Given the description of an element on the screen output the (x, y) to click on. 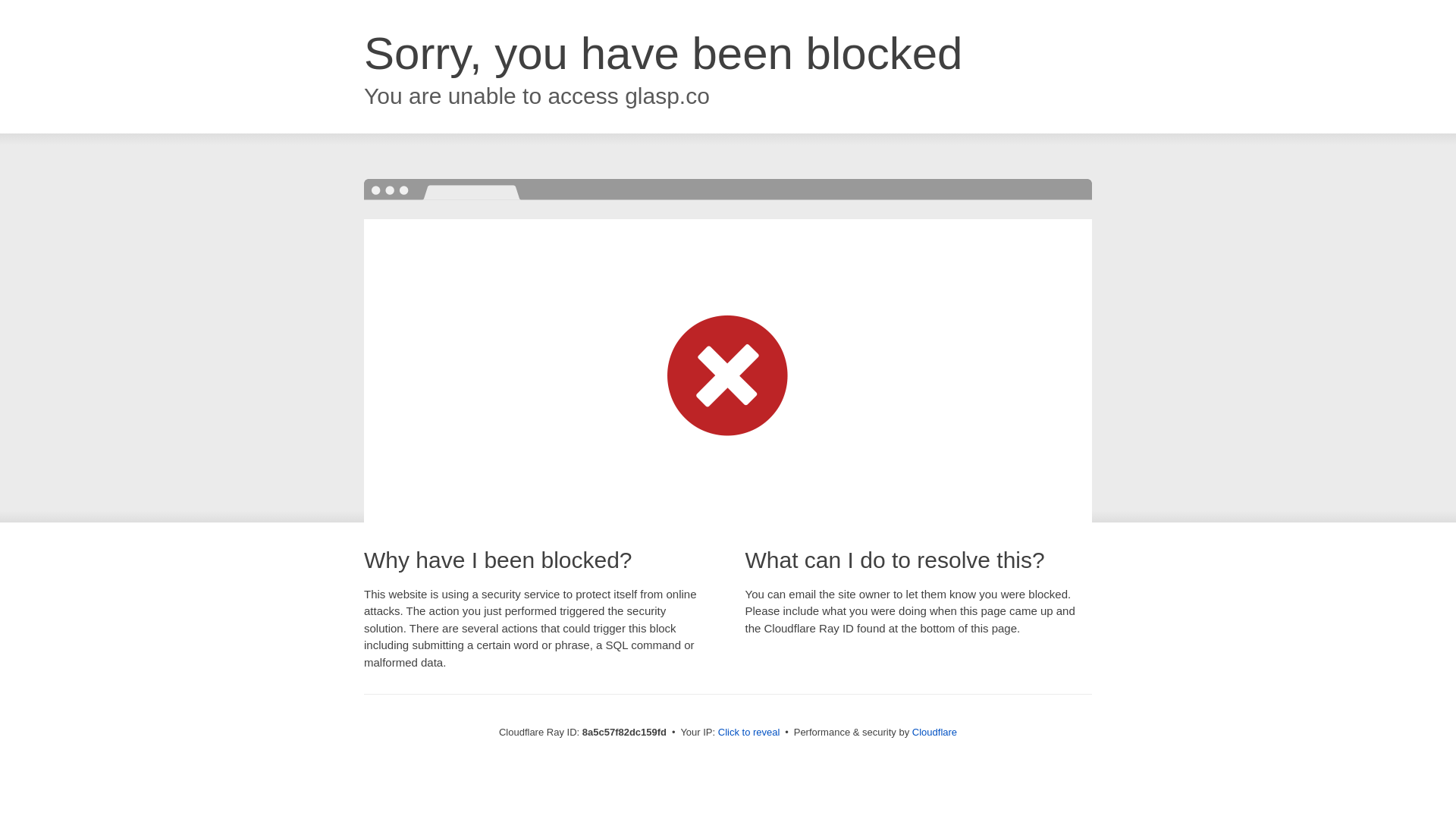
Cloudflare (934, 731)
Click to reveal (748, 732)
